Given the description of an element on the screen output the (x, y) to click on. 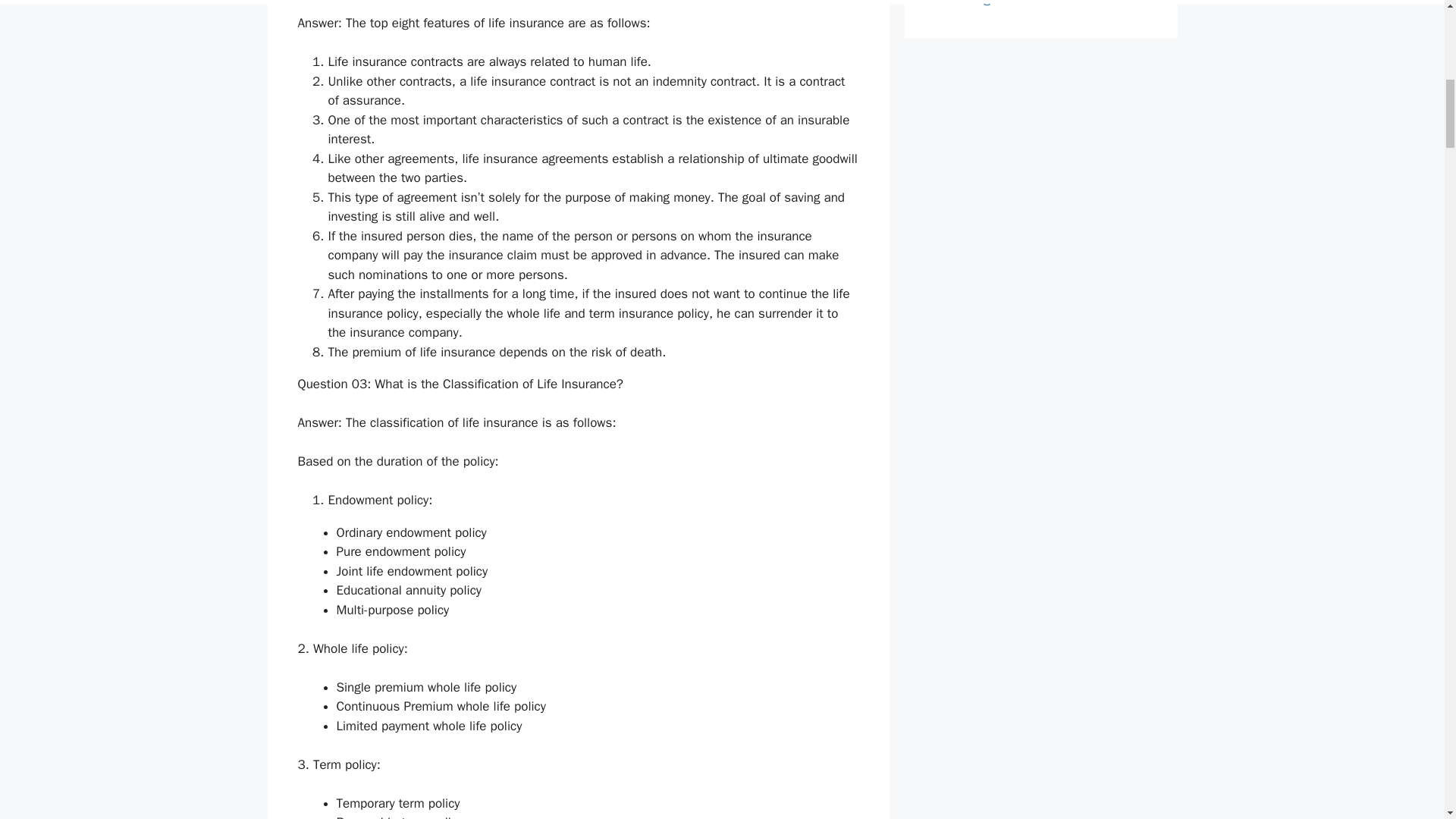
Scroll back to top (1406, 720)
Marketing (962, 3)
